Given the description of an element on the screen output the (x, y) to click on. 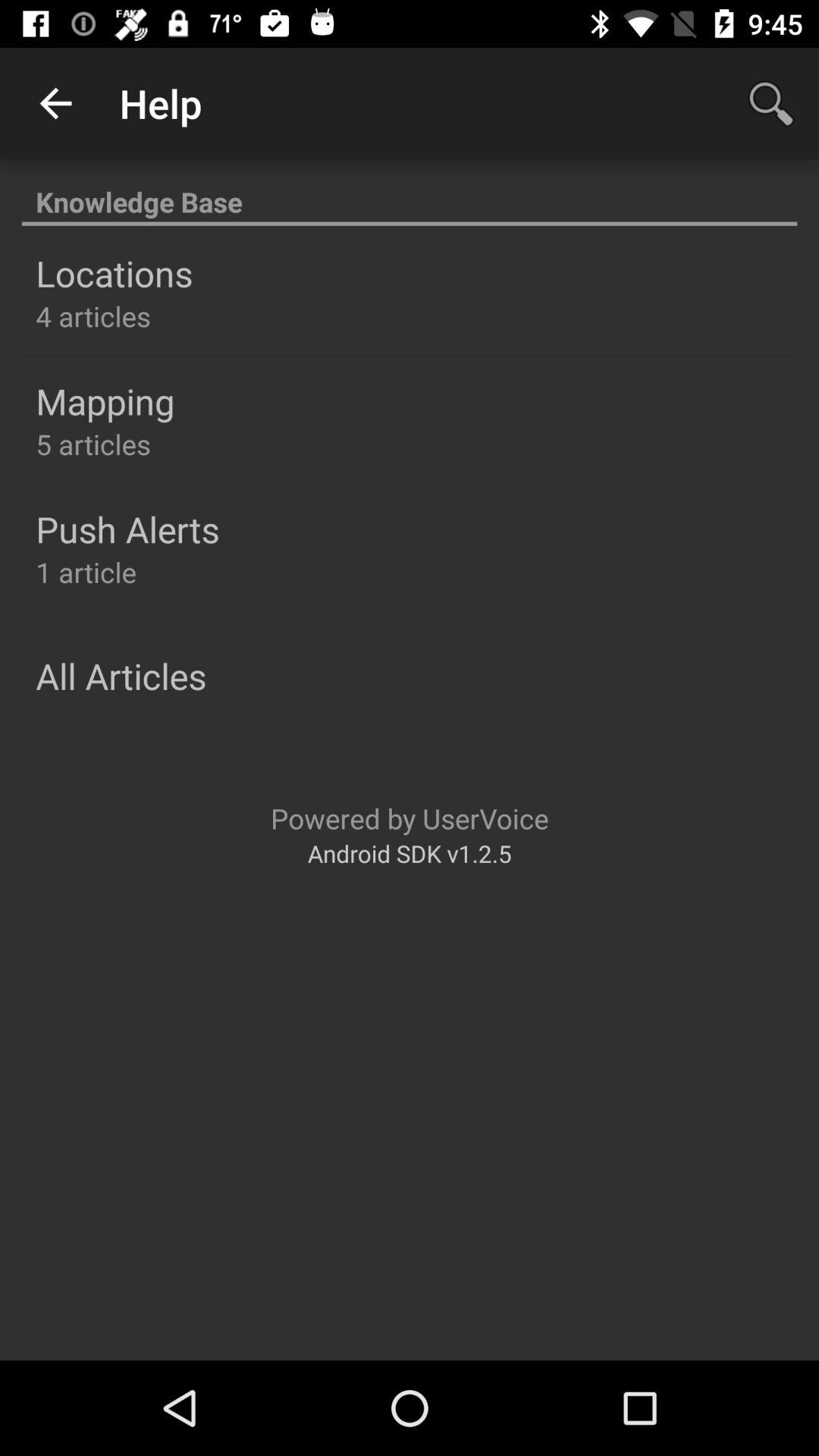
choose the item at the top right corner (771, 103)
